Given the description of an element on the screen output the (x, y) to click on. 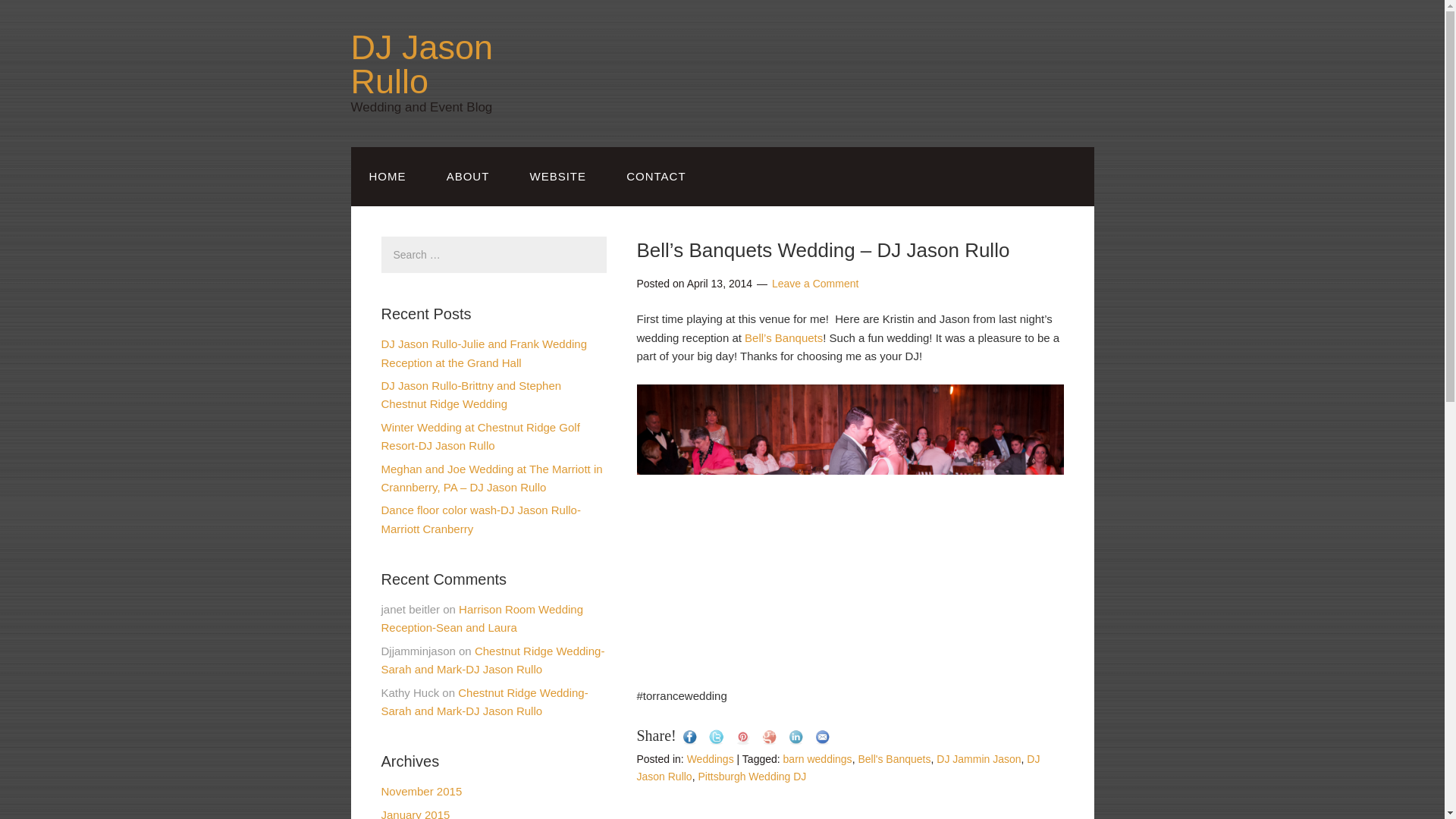
Dance floor color wash-DJ Jason Rullo-Marriott Cranberry (479, 518)
DJ Jason Rullo-Brittny and Stephen Chestnut Ridge Wedding (470, 394)
Linkedin (796, 737)
Sunday, April 13, 2014, 3:41 am (719, 283)
Pittsburgh Wedding DJ (751, 776)
Share! (657, 735)
November 2015 (420, 790)
Chestnut Ridge Wedding-Sarah and Mark-DJ Jason Rullo (492, 659)
